Given the description of an element on the screen output the (x, y) to click on. 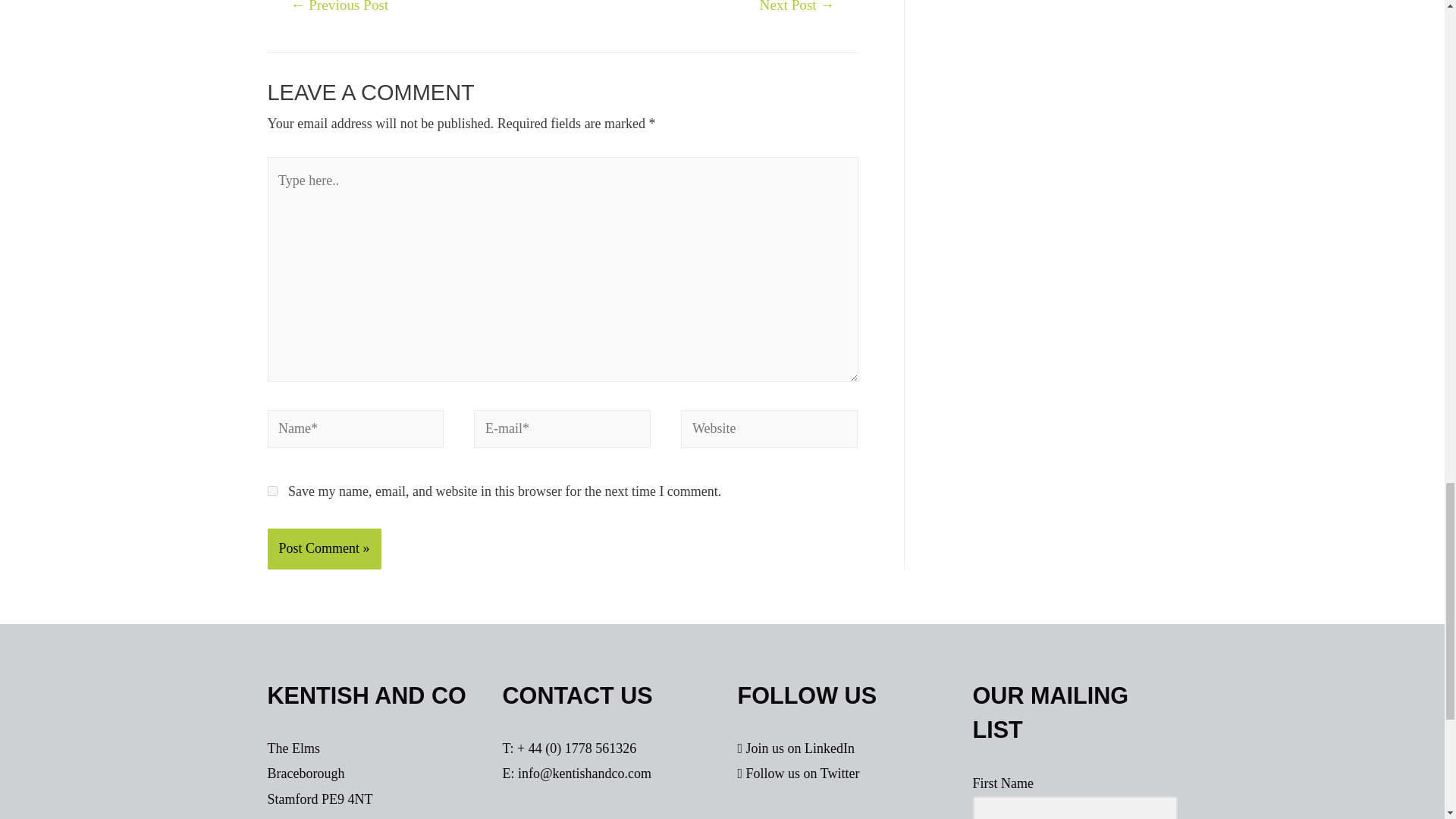
yes (271, 491)
